Given the description of an element on the screen output the (x, y) to click on. 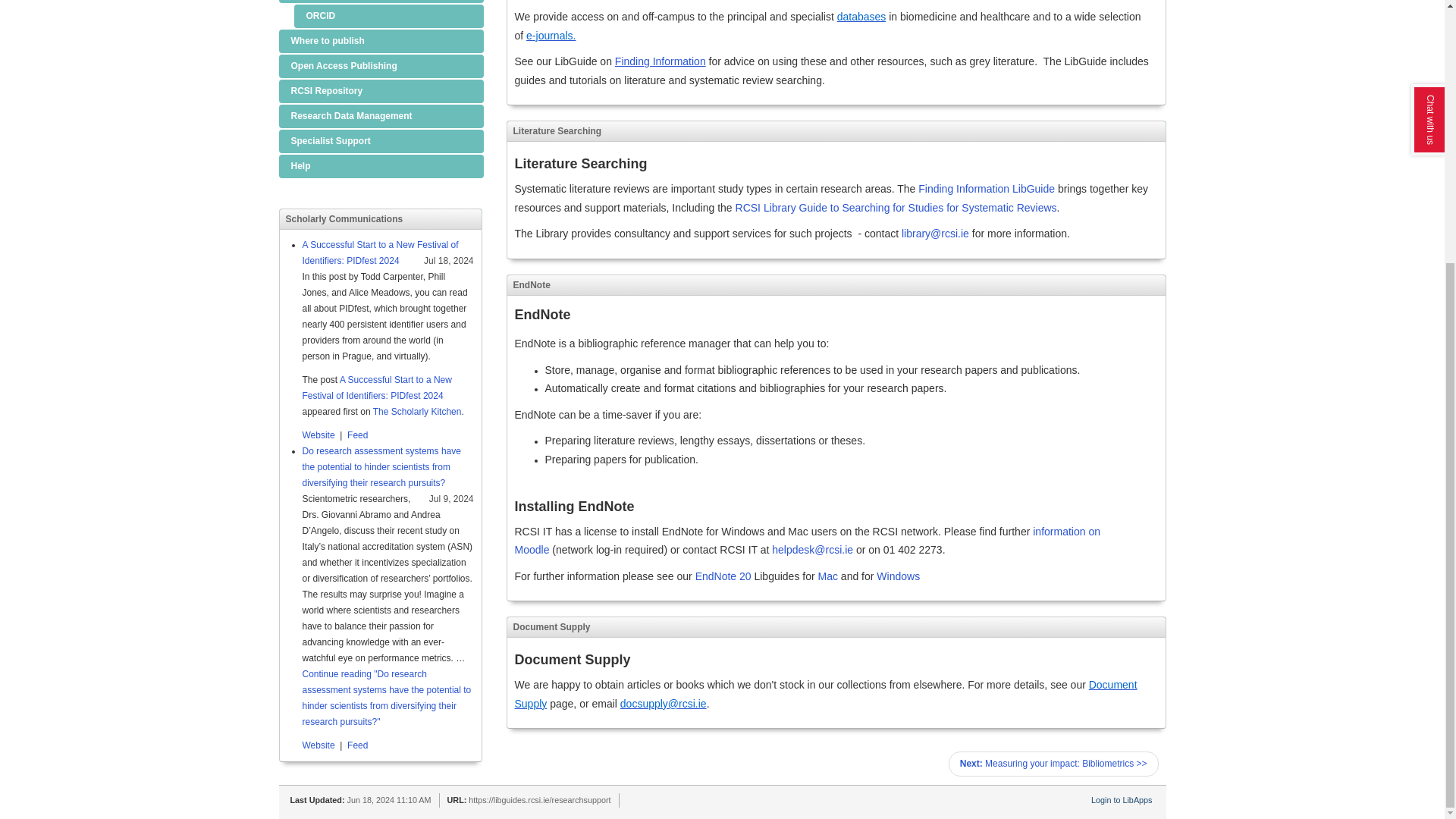
Research Data Management (381, 115)
Help (381, 166)
Finding Information (660, 61)
information on Moodle (806, 540)
databases (357, 745)
RCSI Repository (861, 16)
Finding Information LibGuide (381, 91)
